Given the description of an element on the screen output the (x, y) to click on. 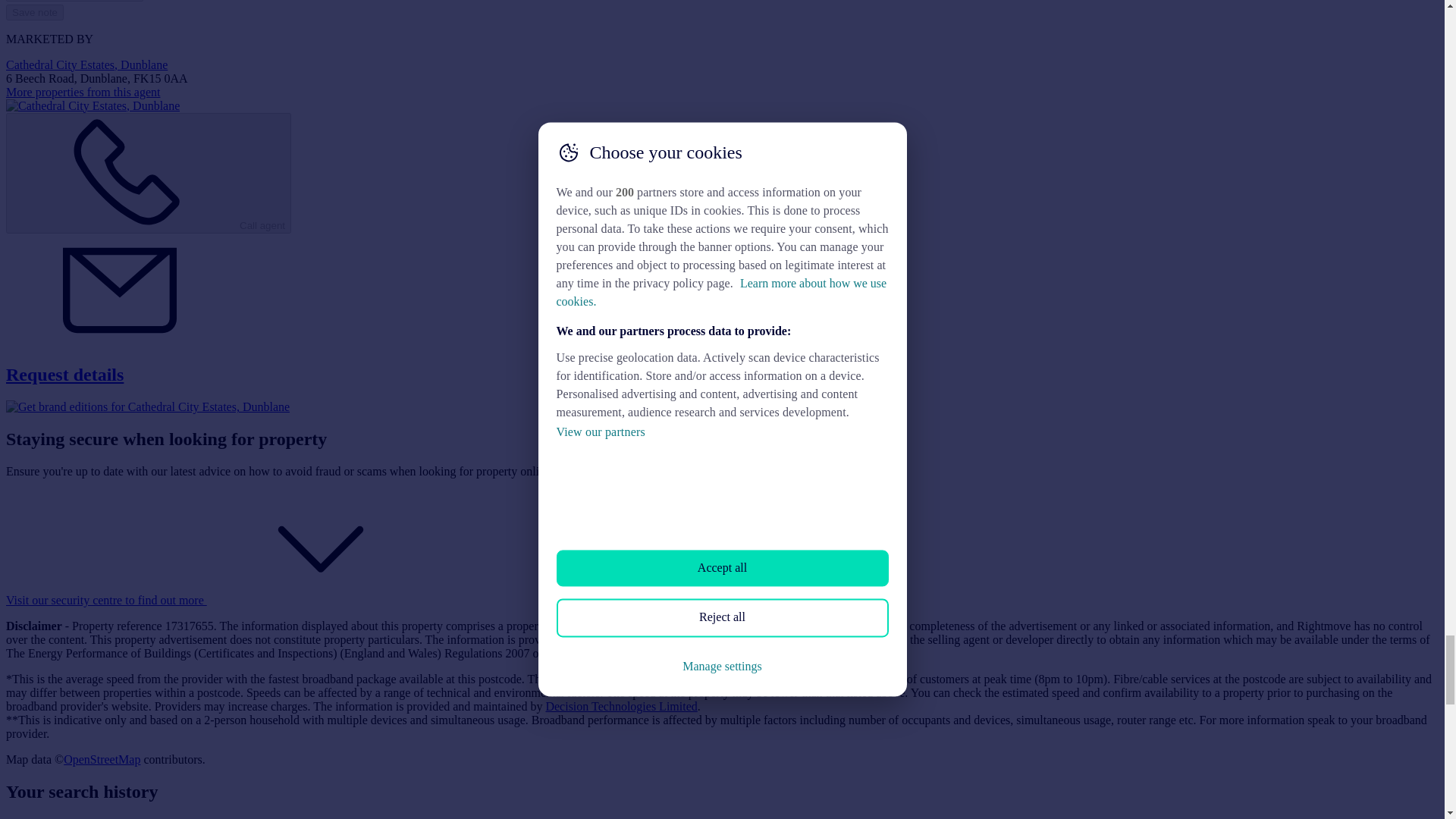
Open Street Map (101, 758)
